Given the description of an element on the screen output the (x, y) to click on. 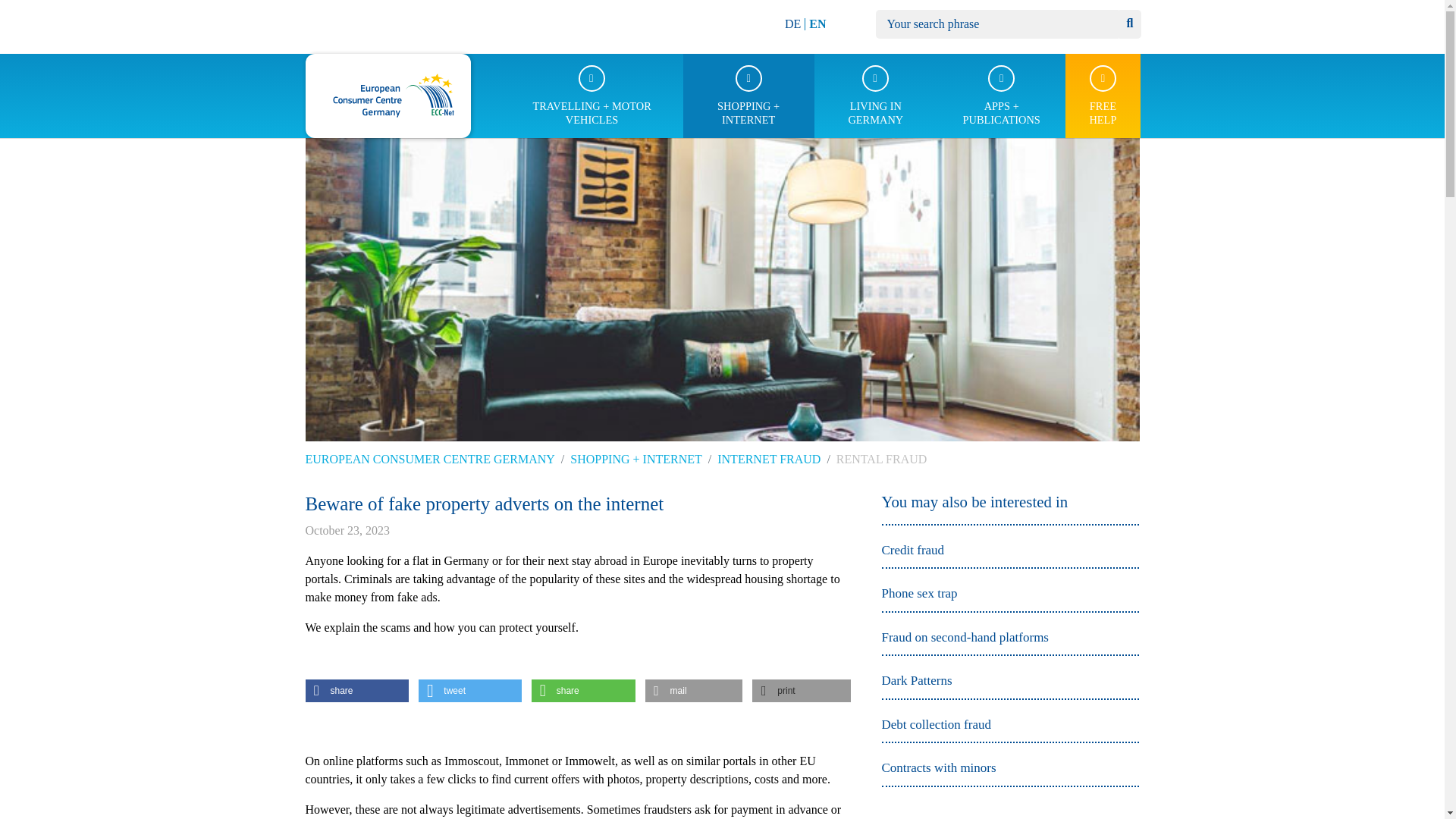
Deutsch (792, 23)
English (817, 23)
EN (817, 23)
DE (792, 23)
Find (1129, 23)
LIVING IN GERMANY (875, 96)
Find (1129, 23)
